Given the description of an element on the screen output the (x, y) to click on. 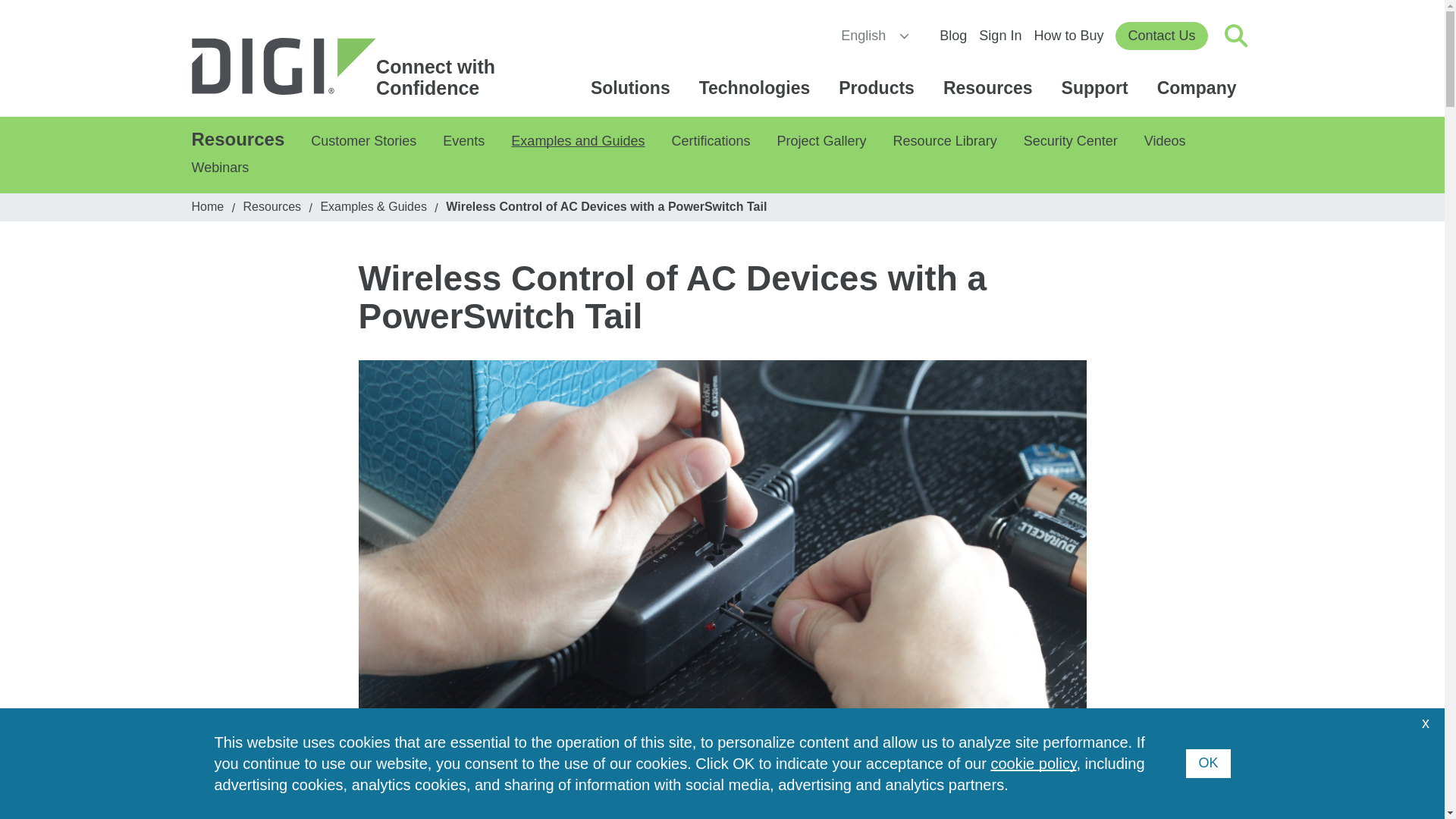
Contact Us (1161, 36)
Sign In (1000, 35)
Click to toggle techologies menu (757, 87)
Click to toggle support menu (349, 67)
Home (1096, 87)
Click to toggle solutions menu (349, 67)
Share on LinkedIn (632, 87)
Click to toggle support menu (397, 754)
Click to toggle products menu (1198, 87)
Solutions (879, 87)
Switch Language (632, 87)
Click to toggle Search (870, 36)
Tweet on Twitter (1236, 35)
Technologies (564, 754)
